Given the description of an element on the screen output the (x, y) to click on. 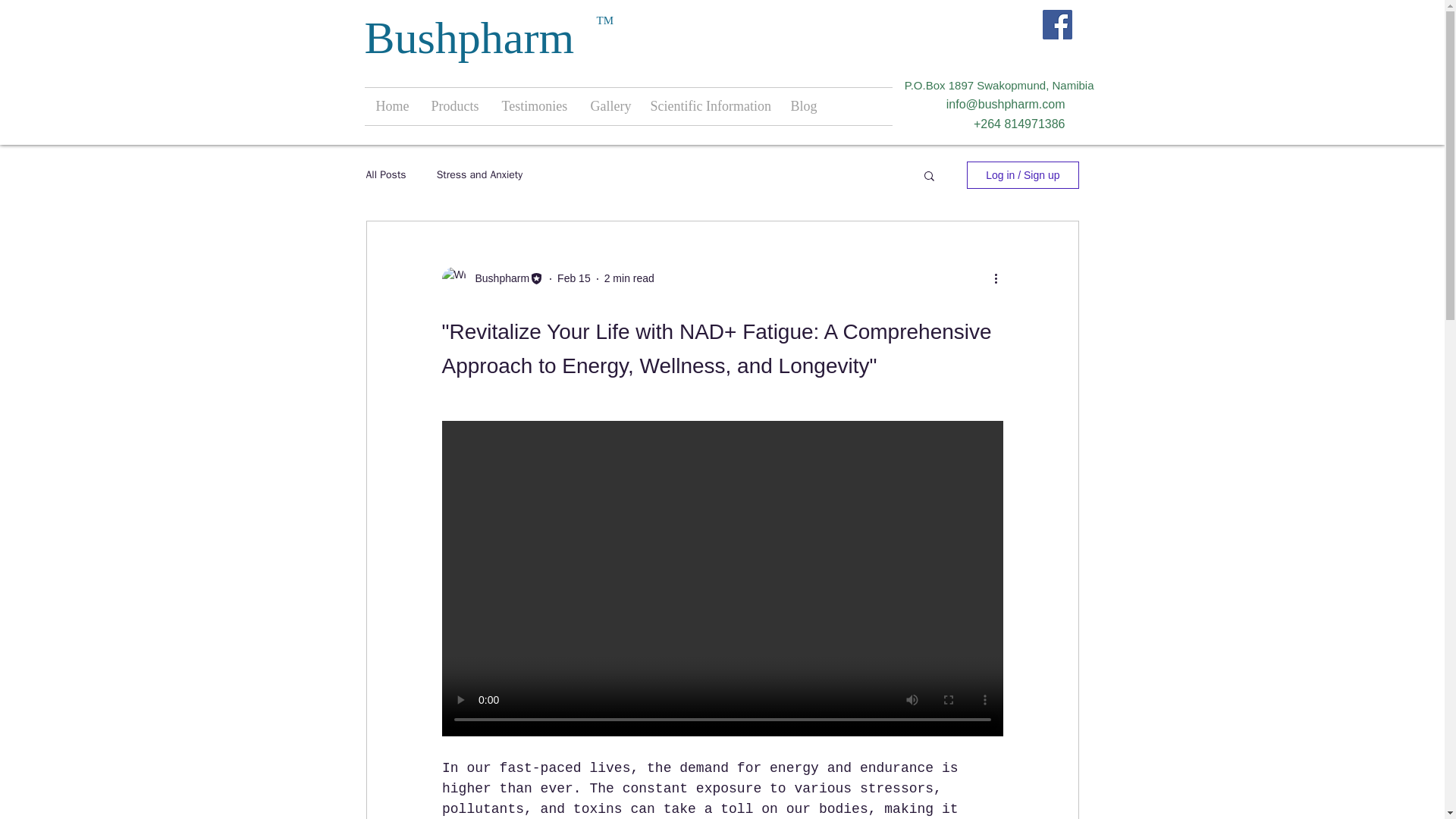
All Posts (385, 174)
2 min read (628, 277)
Testimonies (533, 106)
Products (455, 106)
Scientific Information (708, 106)
Bushpharm (497, 278)
Feb 15 (574, 277)
Blog (801, 106)
Gallery (609, 106)
Home (391, 106)
Stress and Anxiety (479, 174)
